Given the description of an element on the screen output the (x, y) to click on. 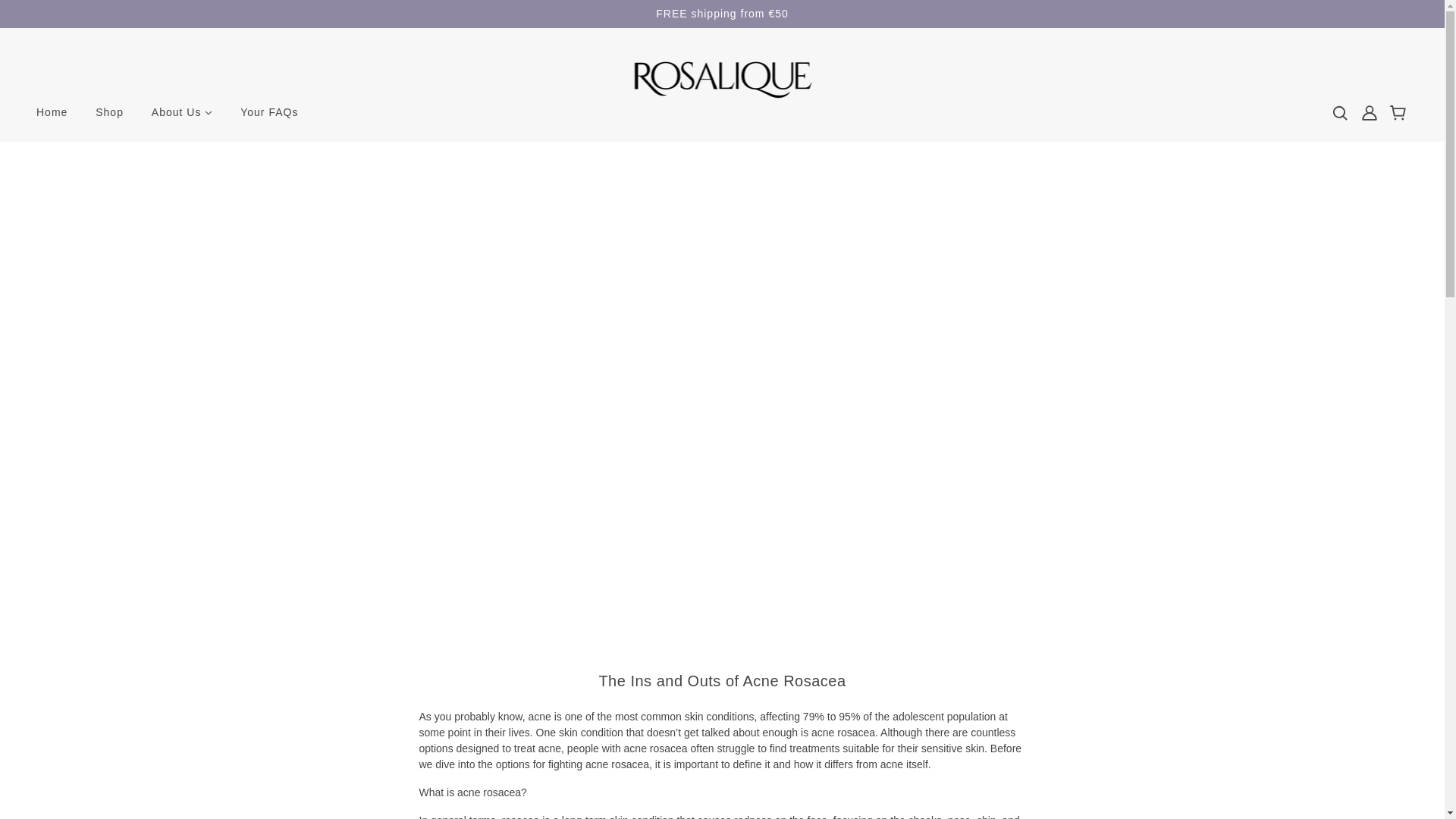
Your FAQs (269, 118)
Home (52, 118)
Rosalique Skincare Europe (721, 78)
Shop (108, 118)
About Us (181, 118)
